Given the description of an element on the screen output the (x, y) to click on. 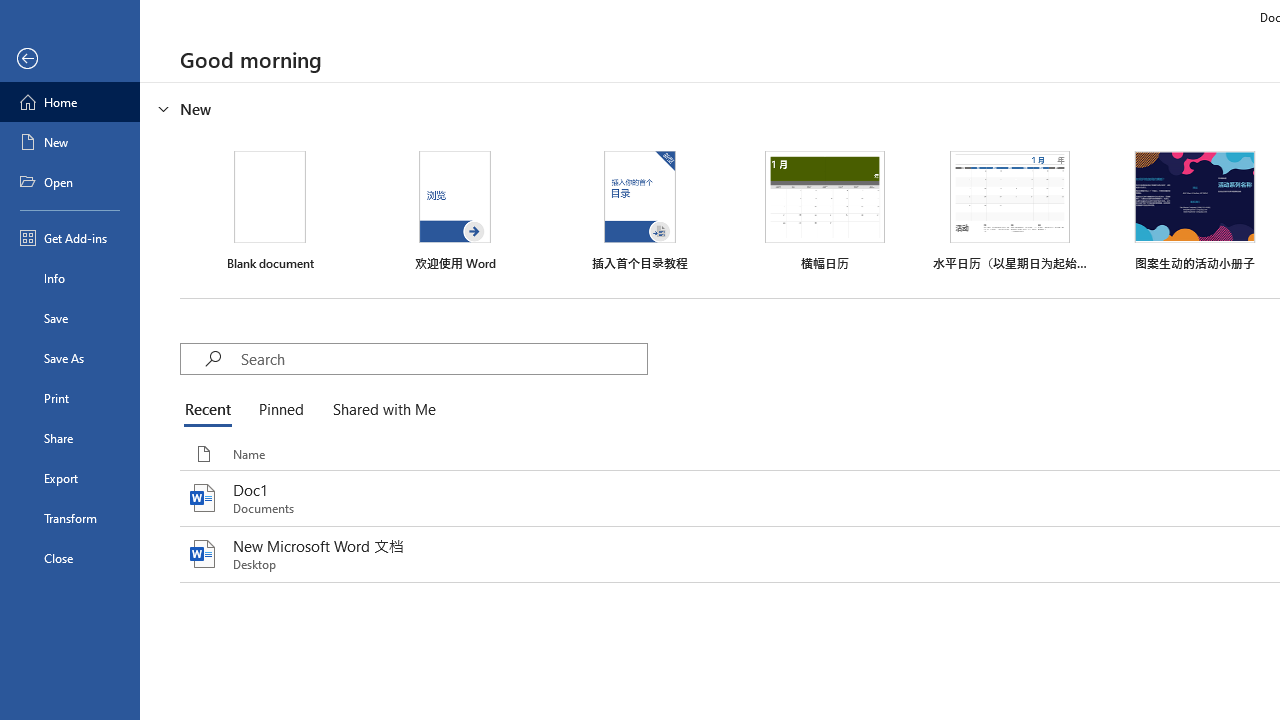
Save As (69, 357)
New (69, 141)
Print (69, 398)
Pinned (280, 410)
Hide or show region (164, 108)
